Given the description of an element on the screen output the (x, y) to click on. 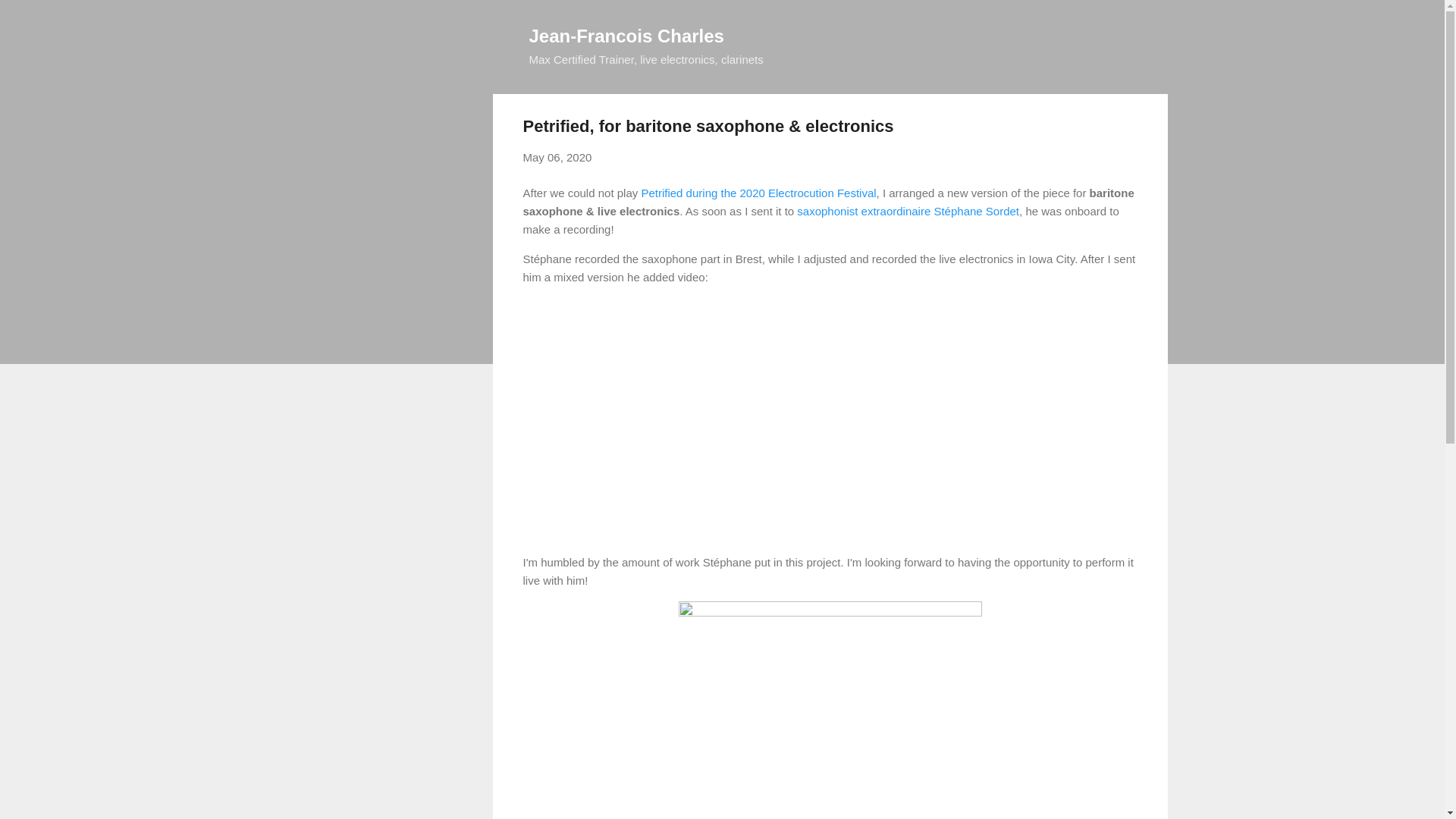
May 06, 2020 (557, 156)
permanent link (557, 156)
Petrified during the 2020 Electrocution Festival (758, 192)
Search (29, 18)
Jean-Francois Charles (626, 35)
